Given the description of an element on the screen output the (x, y) to click on. 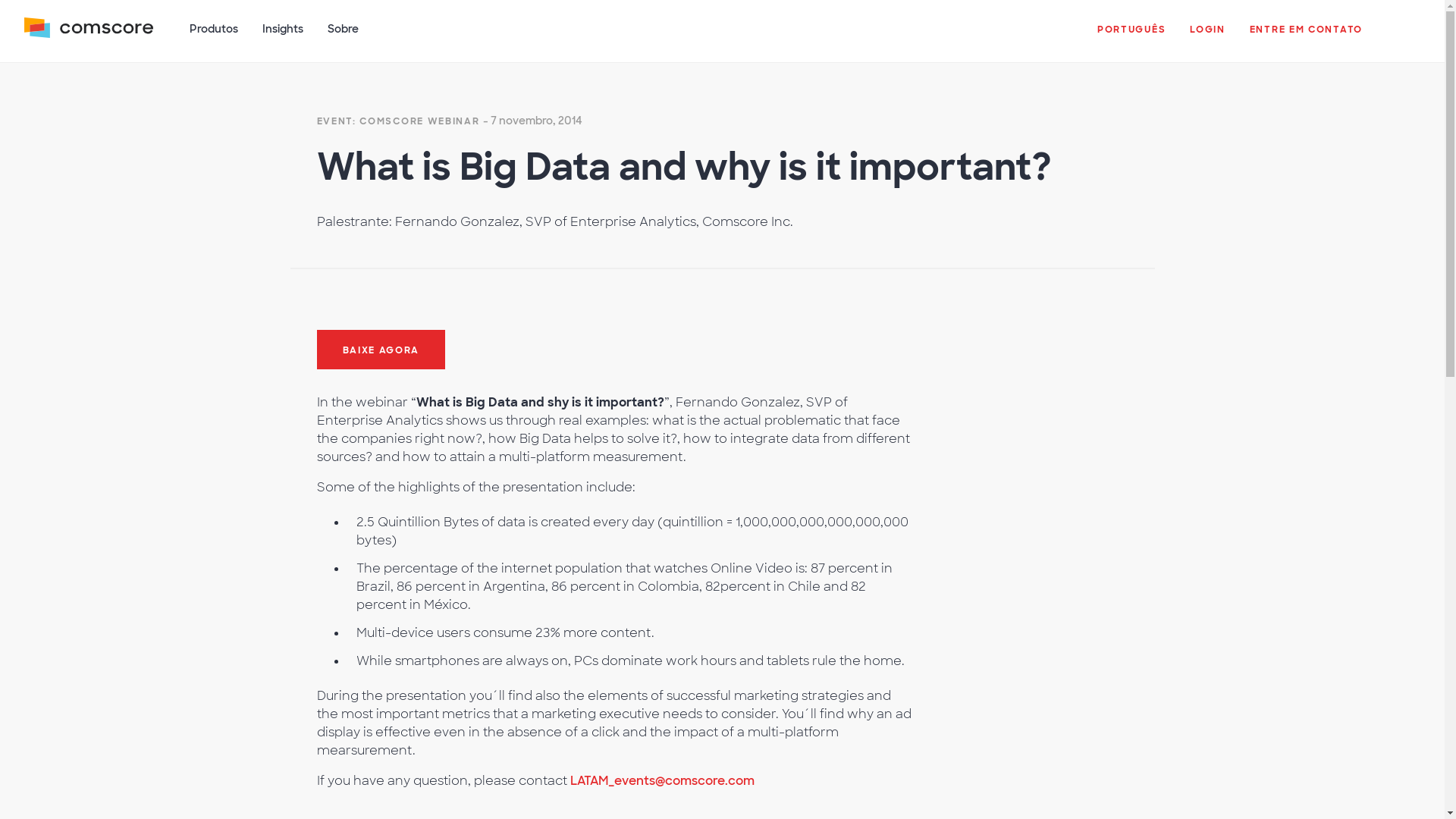
Produtos (213, 37)
Produtos (213, 37)
Home (88, 37)
Insights (282, 37)
Insights (282, 37)
Sobre (343, 37)
